Given the description of an element on the screen output the (x, y) to click on. 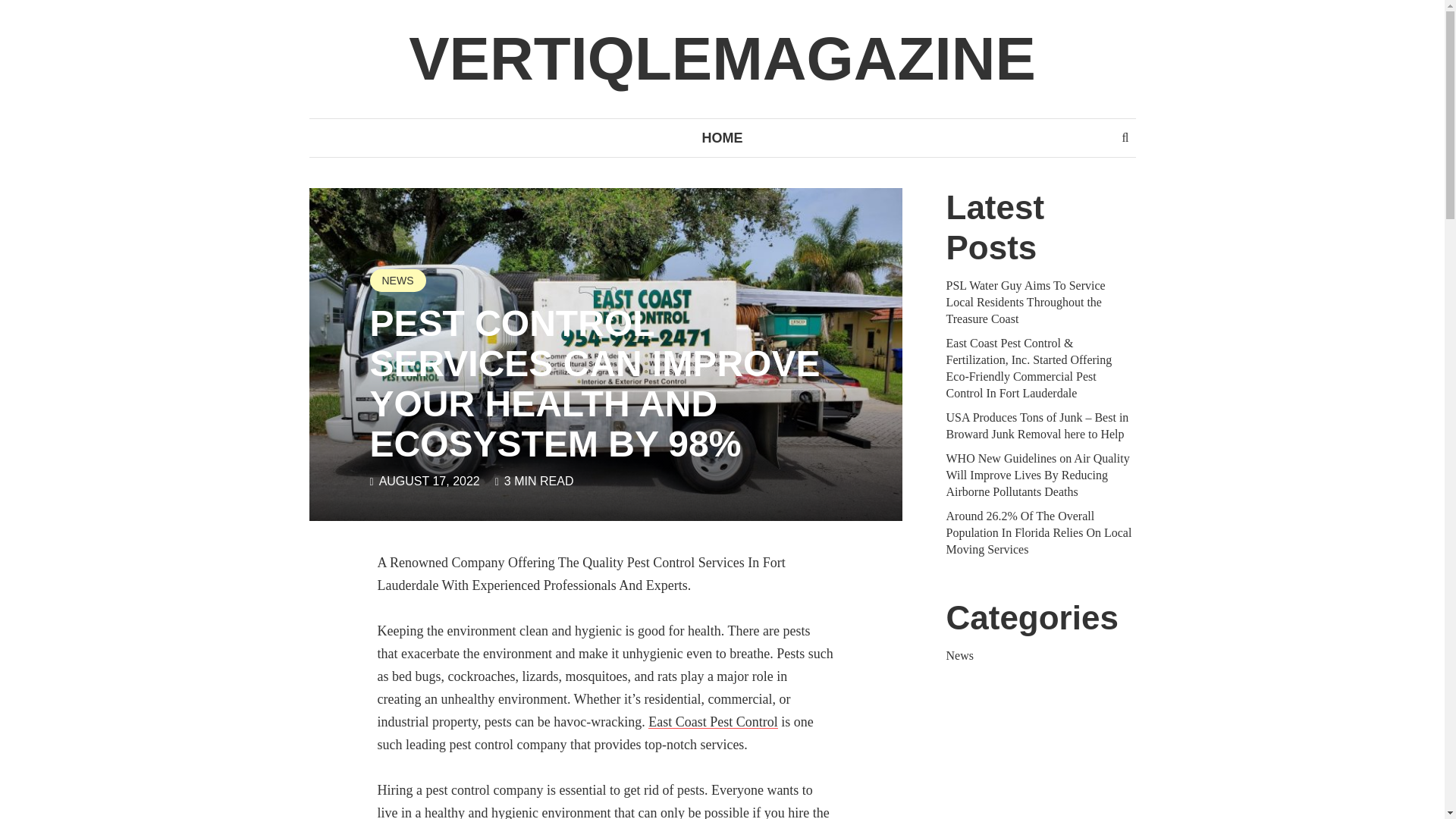
VERTIQLEMAGAZINE (722, 58)
NEWS (397, 280)
East Coast Pest Control (712, 721)
HOME (722, 137)
News (960, 655)
